Given the description of an element on the screen output the (x, y) to click on. 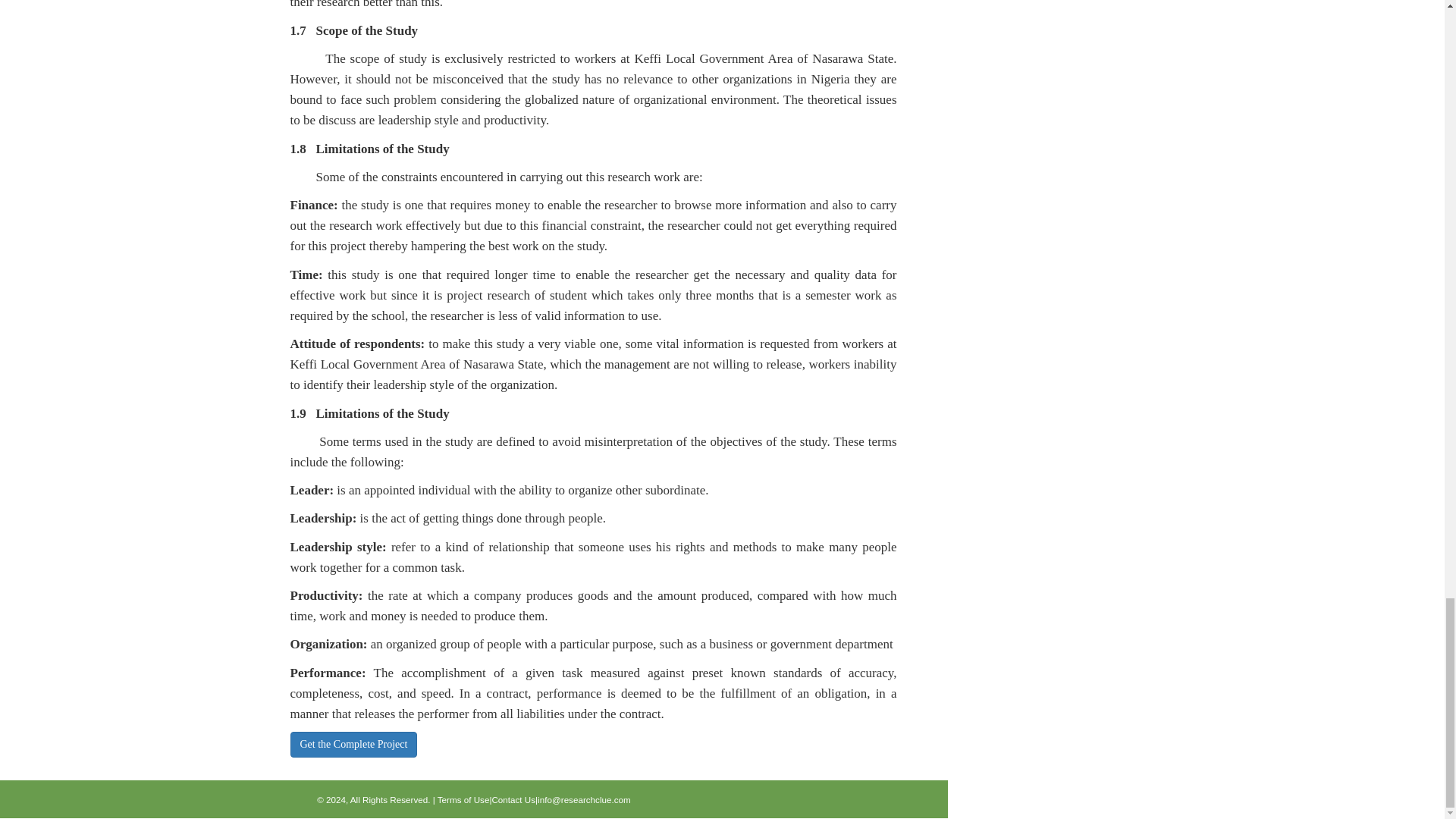
Get the Complete Project (352, 743)
Contact Us (513, 799)
Get the Complete Project (352, 744)
Terms of Use (463, 799)
